Given the description of an element on the screen output the (x, y) to click on. 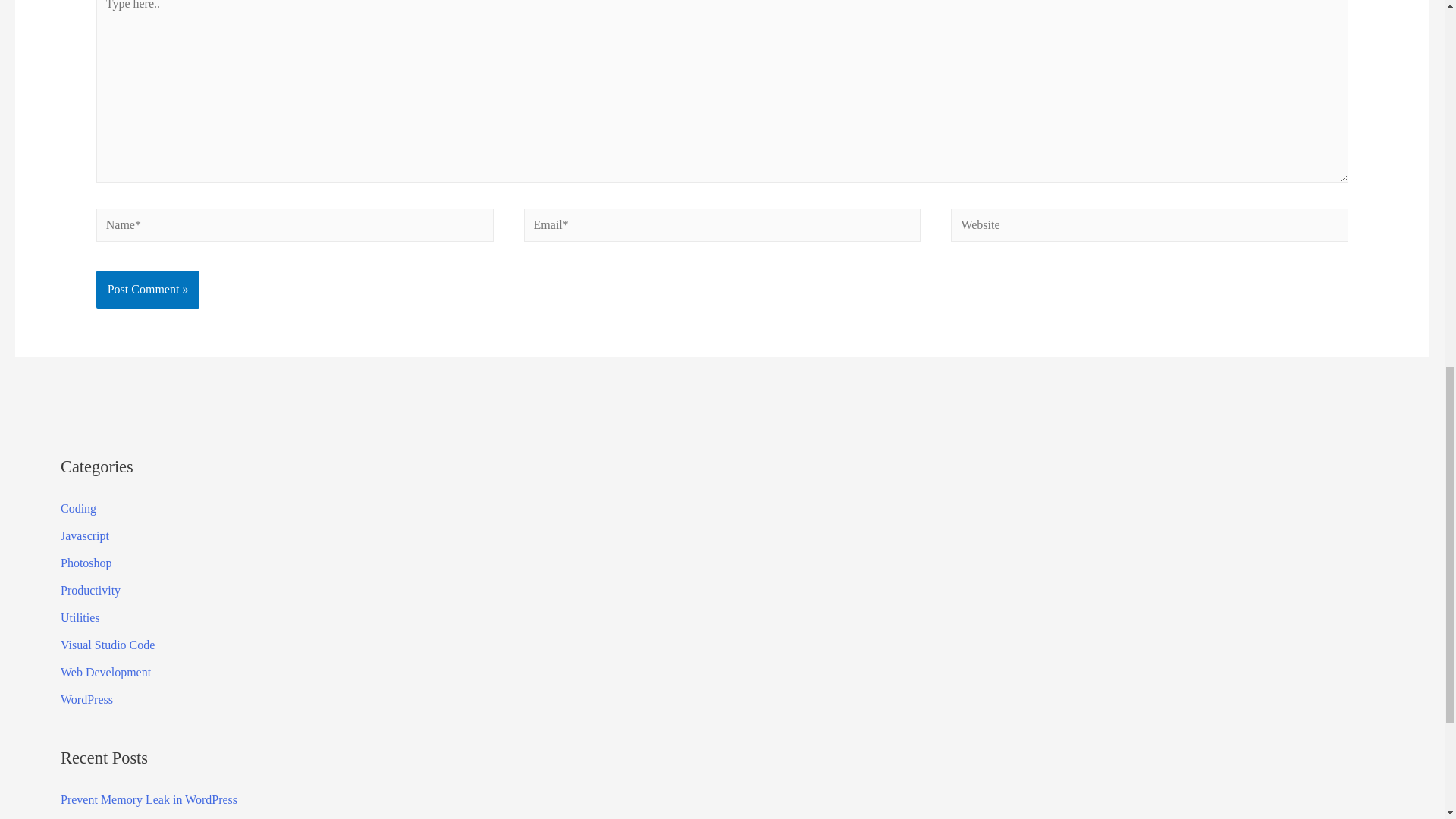
Productivity (90, 590)
Coding (78, 508)
Utilities (80, 617)
WordPress (87, 698)
Prevent Memory Leak in WordPress (149, 799)
Photoshop (86, 562)
Javascript (85, 535)
Visual Studio Code (107, 644)
Web Development (106, 671)
